Given the description of an element on the screen output the (x, y) to click on. 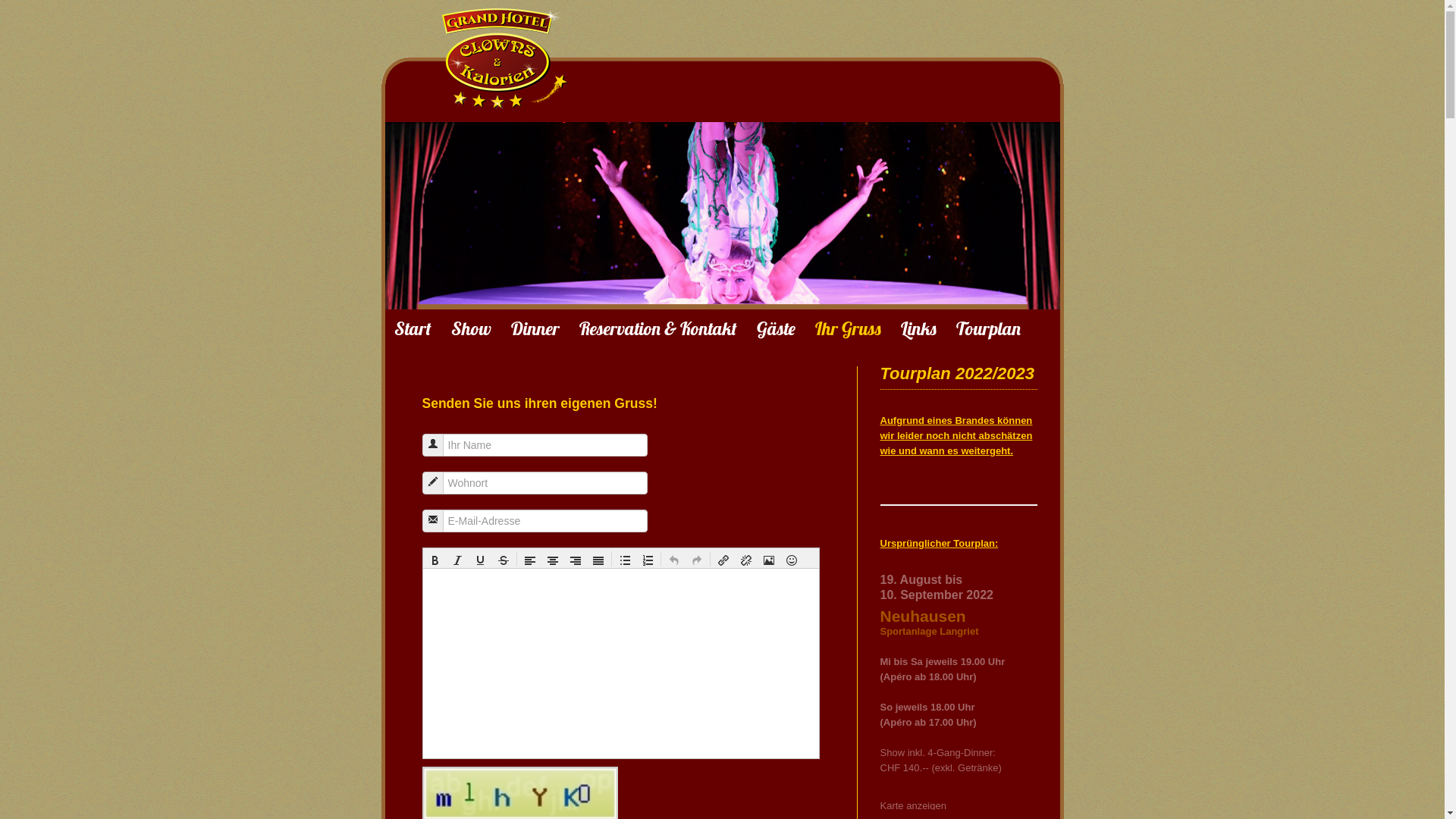
Links Element type: text (918, 327)
E-Mail-Adresse Element type: hover (432, 519)
Karte anzeigen Element type: text (912, 805)
Tourplan Element type: text (987, 327)
Dinner Element type: text (535, 327)
Wohnort Element type: hover (432, 481)
Ihr Name Element type: hover (432, 443)
Show Element type: text (470, 327)
Start Element type: text (412, 327)
Reservation & Kontakt Element type: text (658, 327)
Ihr Gruss Element type: text (847, 327)
